Given the description of an element on the screen output the (x, y) to click on. 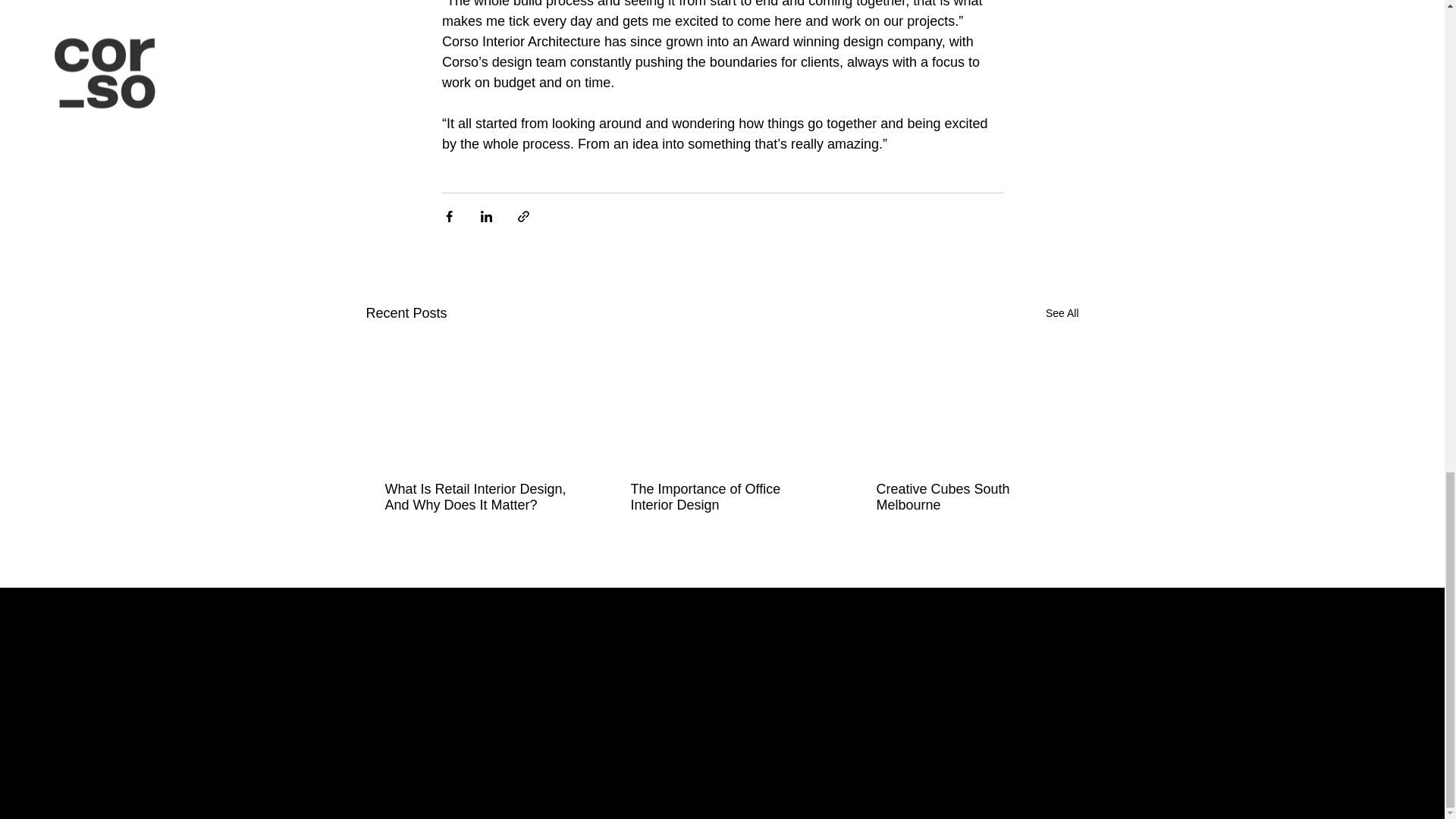
Creative Cubes South Melbourne (967, 497)
See All (1061, 313)
The Importance of Office Interior Design (721, 497)
What Is Retail Interior Design, And Why Does It Matter? (476, 497)
